Given the description of an element on the screen output the (x, y) to click on. 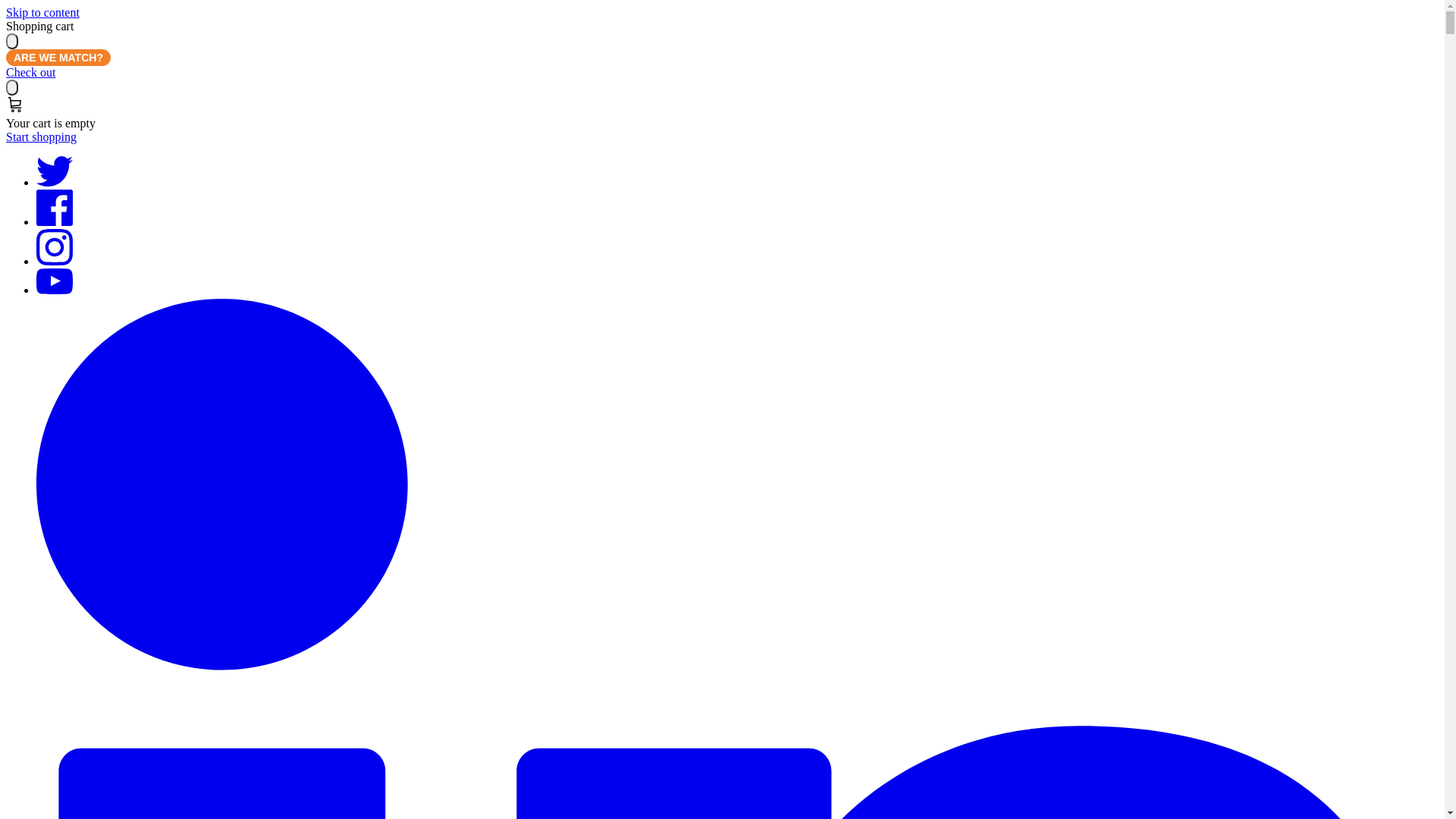
Youtube Element type: text (54, 289)
Facebook Element type: text (54, 221)
Skip to content Element type: text (42, 12)
Check out Element type: text (30, 71)
Start shopping Element type: text (41, 136)
Twitter Element type: text (54, 181)
Instagram Element type: text (54, 260)
ARE WE MATCH? Element type: text (58, 57)
